Given the description of an element on the screen output the (x, y) to click on. 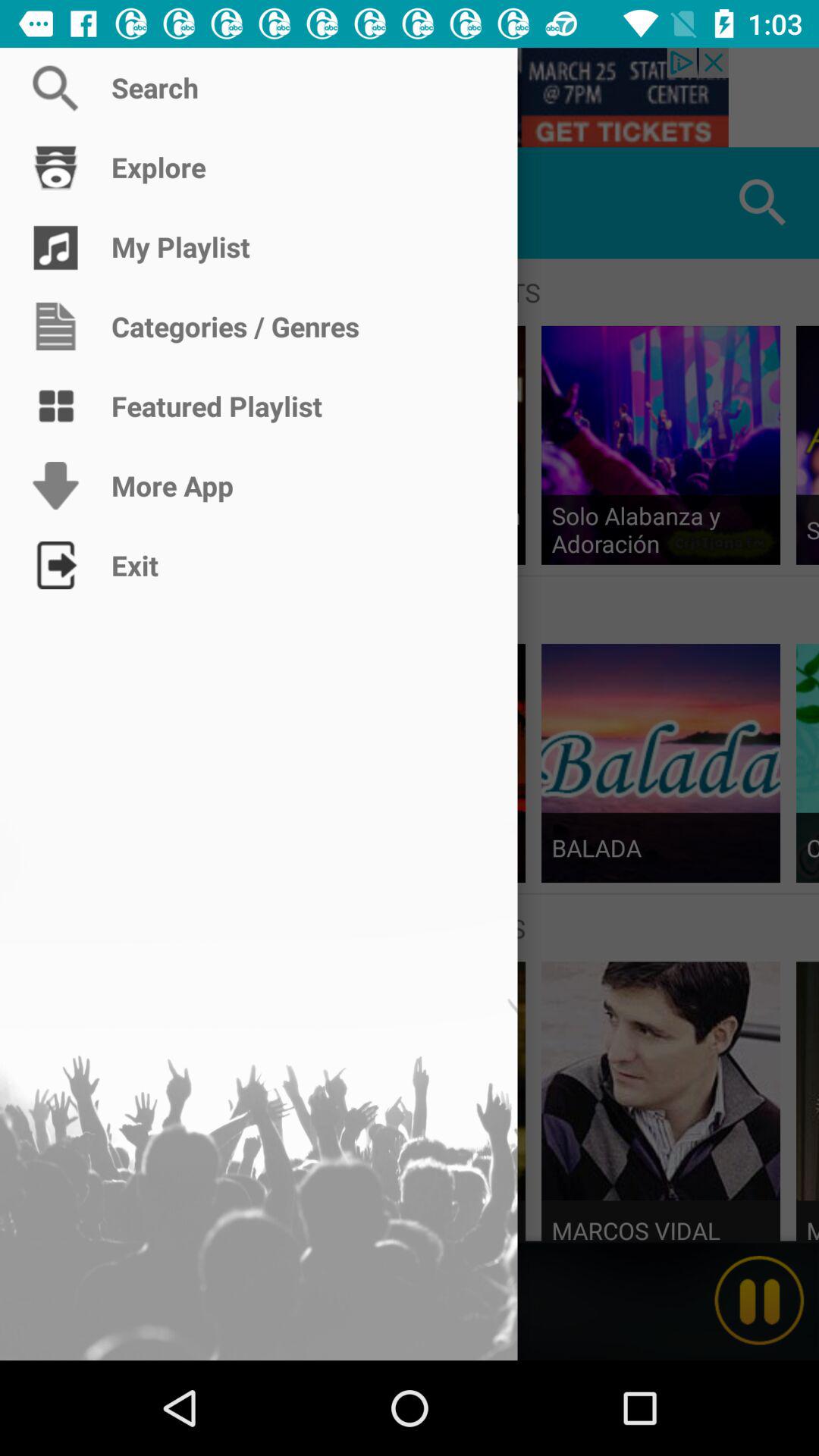
go to searching bar (409, 97)
